Given the description of an element on the screen output the (x, y) to click on. 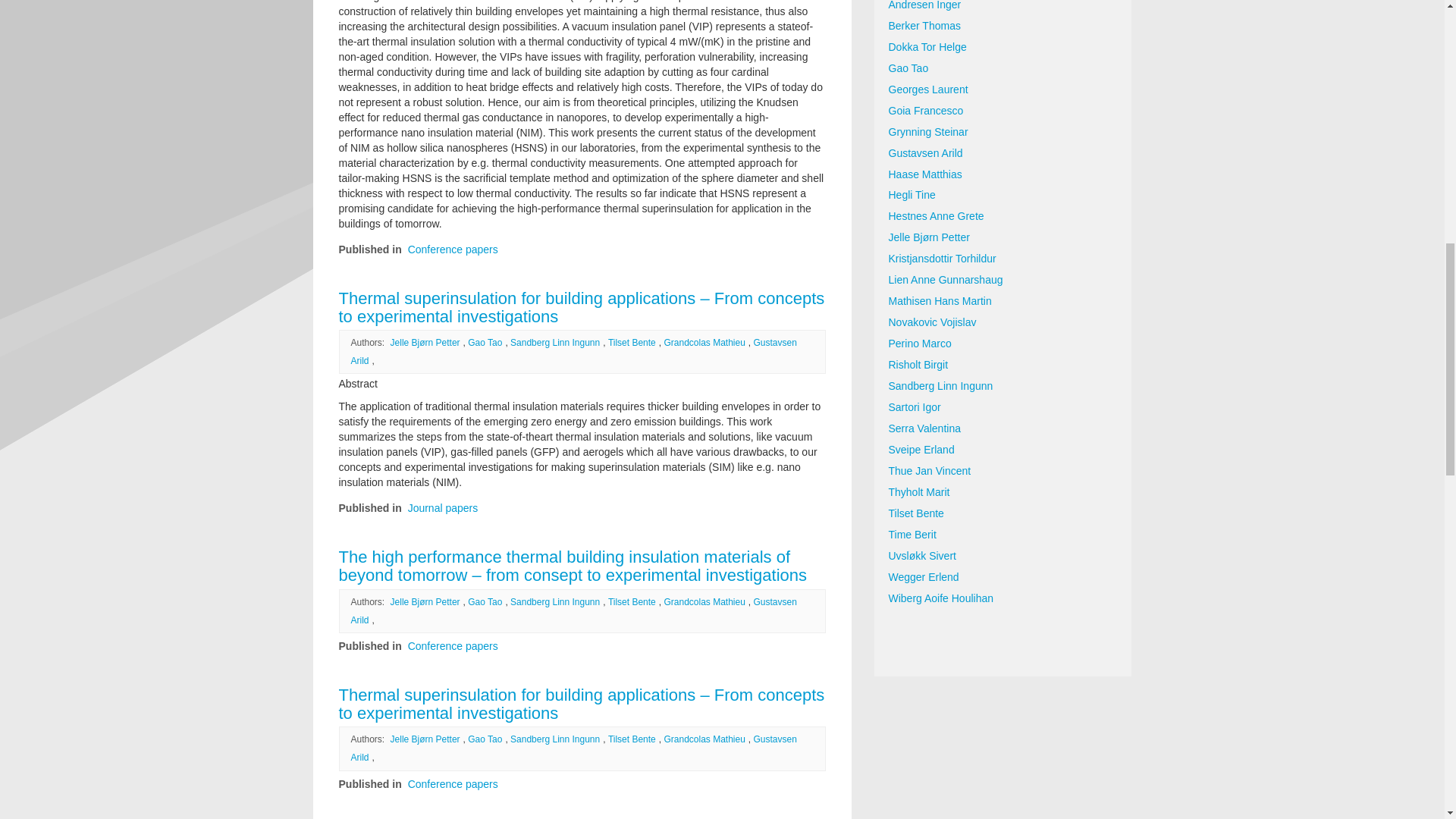
33 items tagged with Grynning Steinar (1003, 132)
37 items tagged with Dokka Tor Helge (1003, 47)
105 items tagged with Gustavsen Arild (1003, 153)
23 items tagged with Haase Matthias (1003, 174)
33 items tagged with Goia Francesco (1003, 111)
55 items tagged with Gao Tao (1003, 68)
47 items tagged with Andresen Inger (1003, 7)
35 items tagged with Berker Thomas (1003, 25)
37 items tagged with Georges Laurent (1003, 89)
